Given the description of an element on the screen output the (x, y) to click on. 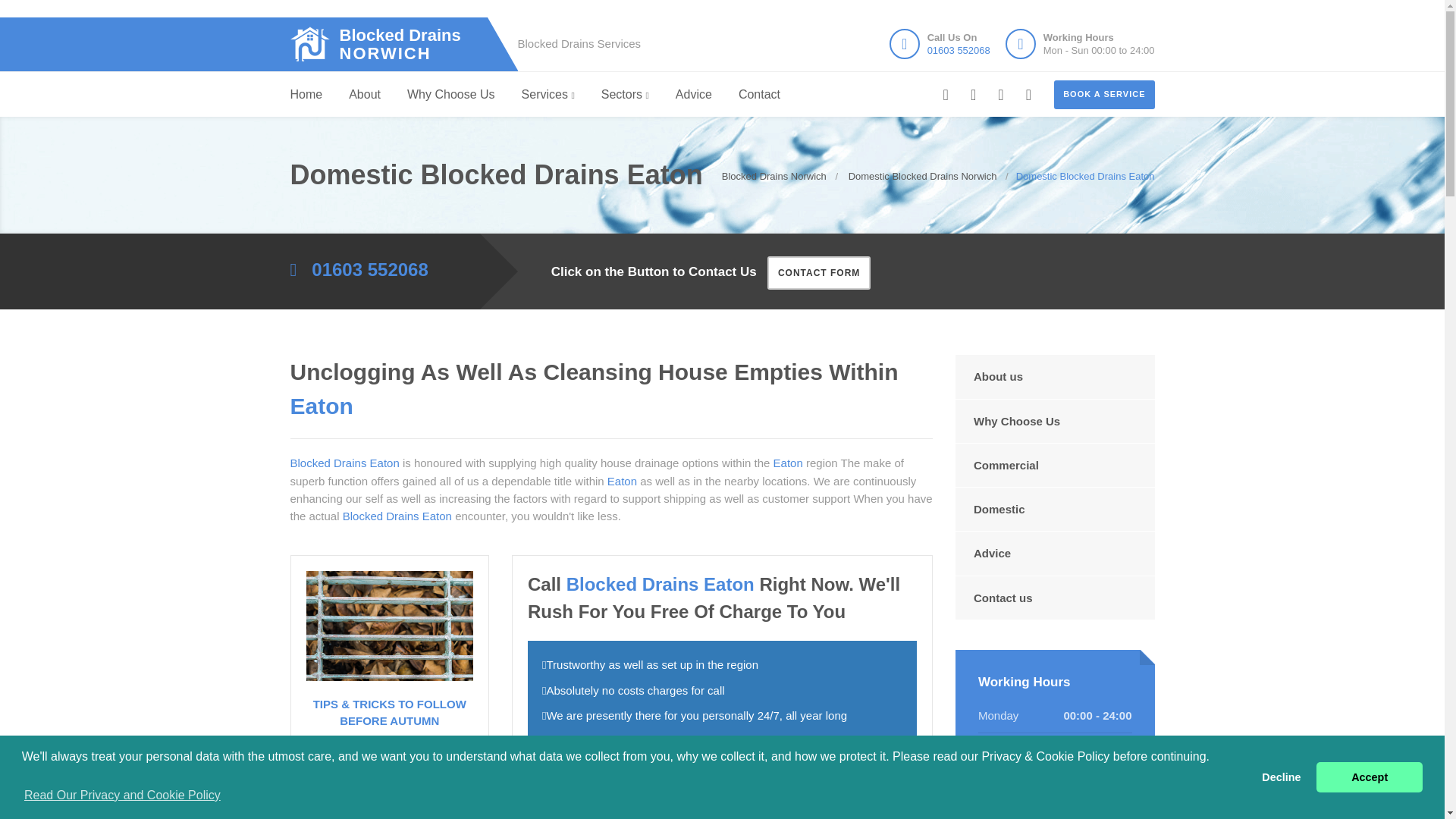
Read Our Privacy and Cookie Policy (121, 794)
BOOK A SERVICE (1104, 94)
01603 552068 (958, 50)
About (364, 94)
Services (395, 44)
Decline (548, 94)
Home (1281, 777)
Why Choose Us (305, 94)
Accept (451, 94)
Blocked Drains Norwich (1369, 777)
